Given the description of an element on the screen output the (x, y) to click on. 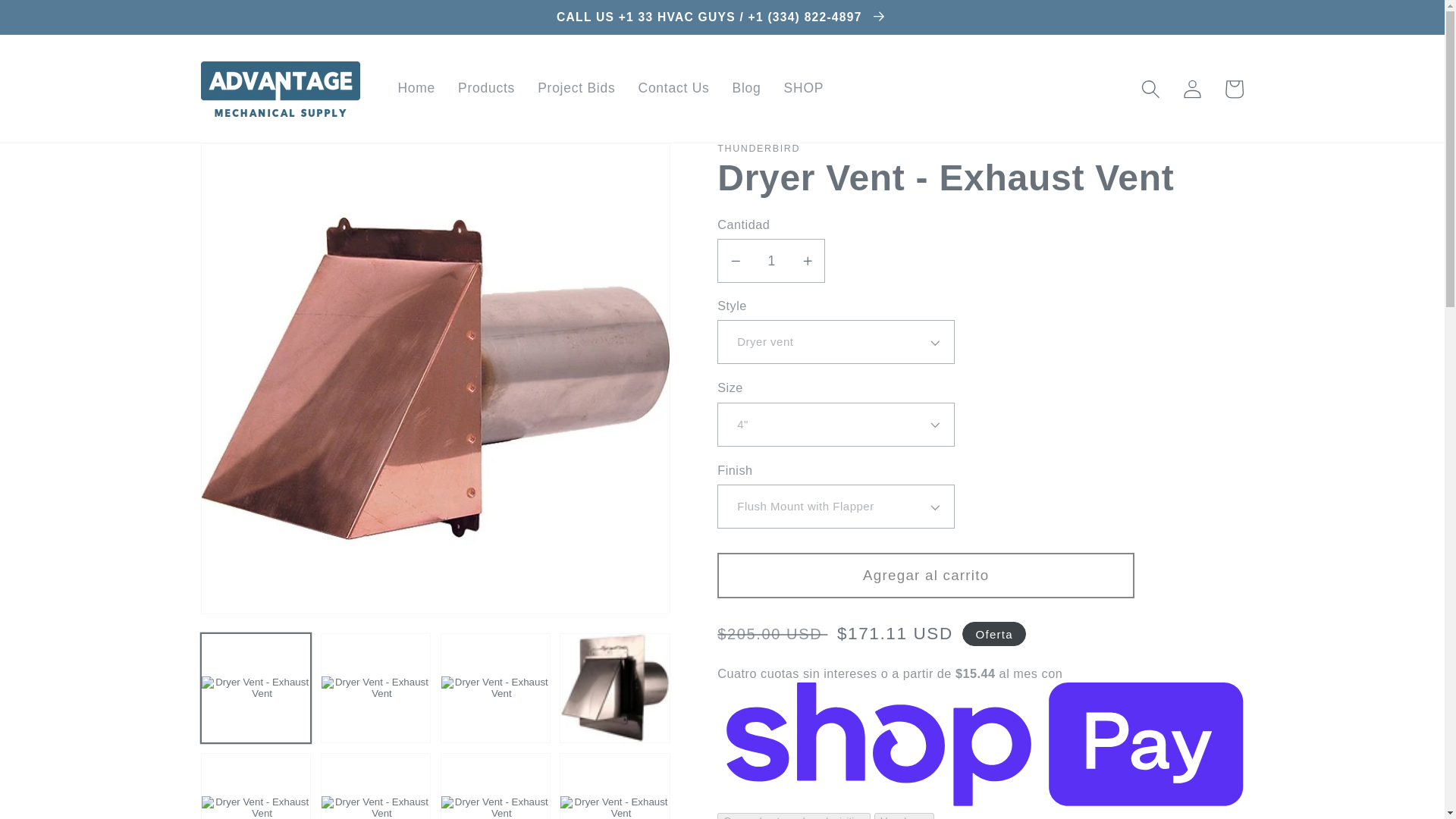
Ir directamente al contenido (58, 22)
1 (771, 260)
